Given the description of an element on the screen output the (x, y) to click on. 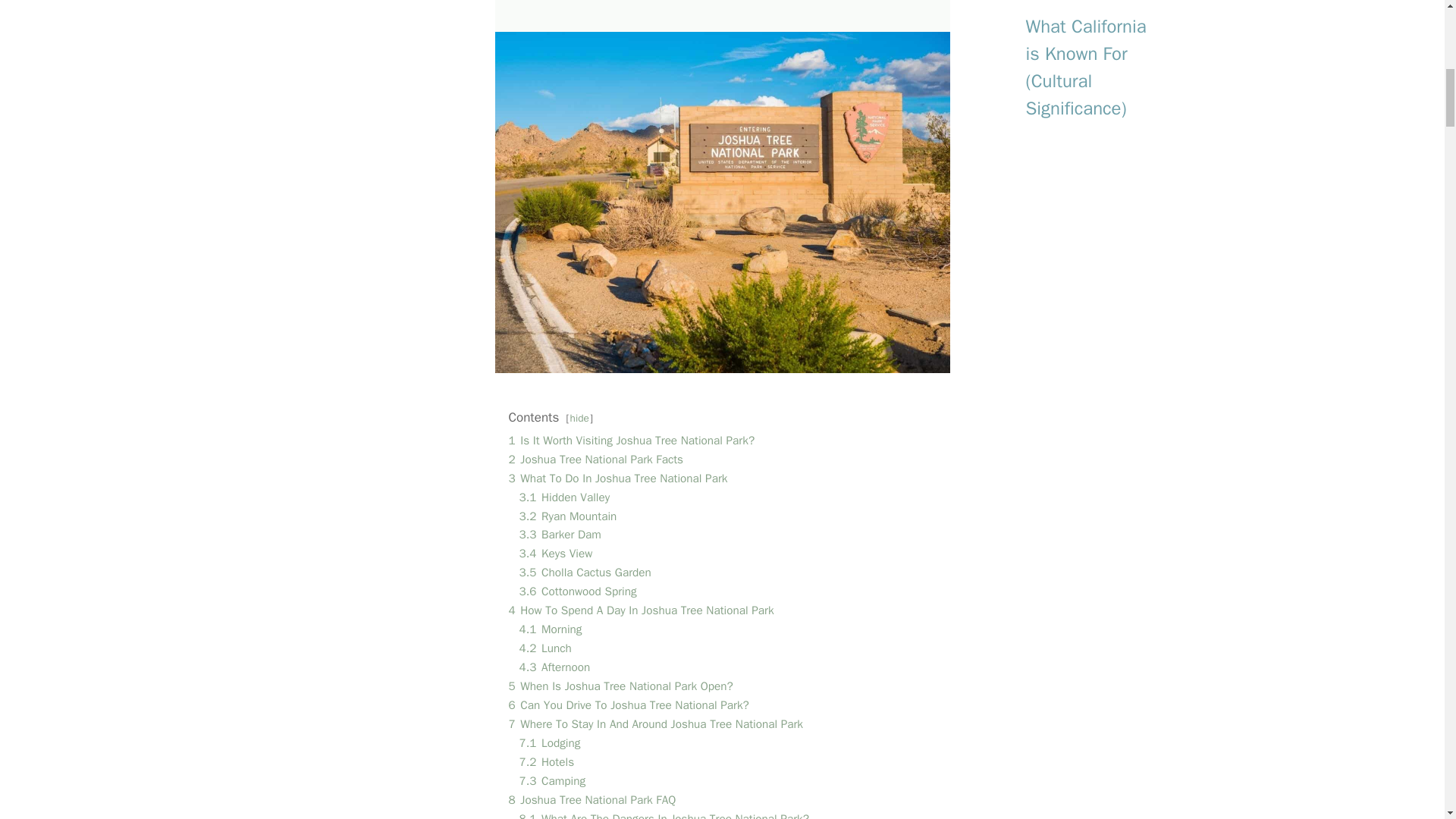
1 Is It Worth Visiting Joshua Tree National Park? (631, 440)
7.1 Lodging (548, 743)
2 Joshua Tree National Park Facts (595, 459)
3 What To Do In Joshua Tree National Park (617, 478)
8 Joshua Tree National Park FAQ (591, 799)
3.4 Keys View (555, 553)
3.3 Barker Dam (558, 534)
7.3 Camping (551, 780)
3.5 Cholla Cactus Garden (584, 572)
4.1 Morning (549, 629)
